Given the description of an element on the screen output the (x, y) to click on. 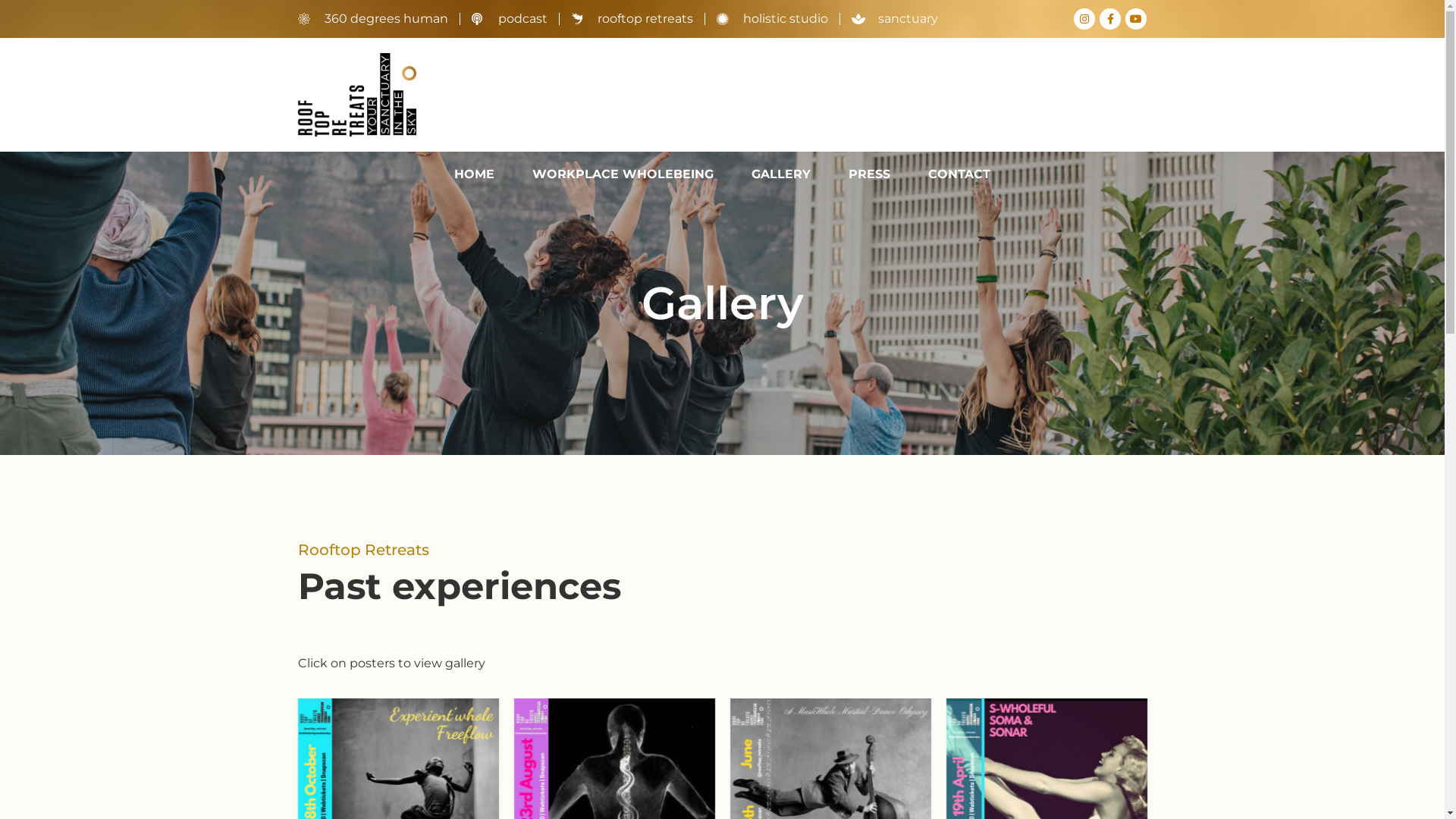
rooftop retreats Element type: text (631, 18)
PRESS Element type: text (869, 174)
sanctuary Element type: text (893, 18)
podcast Element type: text (509, 18)
360 degrees human Element type: text (372, 18)
WORKPLACE WHOLEBEING Element type: text (622, 174)
GALLERY Element type: text (780, 174)
ROOFTOP RETREATS logo b&g Element type: hover (356, 94)
holistic studio Element type: text (771, 18)
HOME Element type: text (474, 174)
CONTACT Element type: text (959, 174)
